Given the description of an element on the screen output the (x, y) to click on. 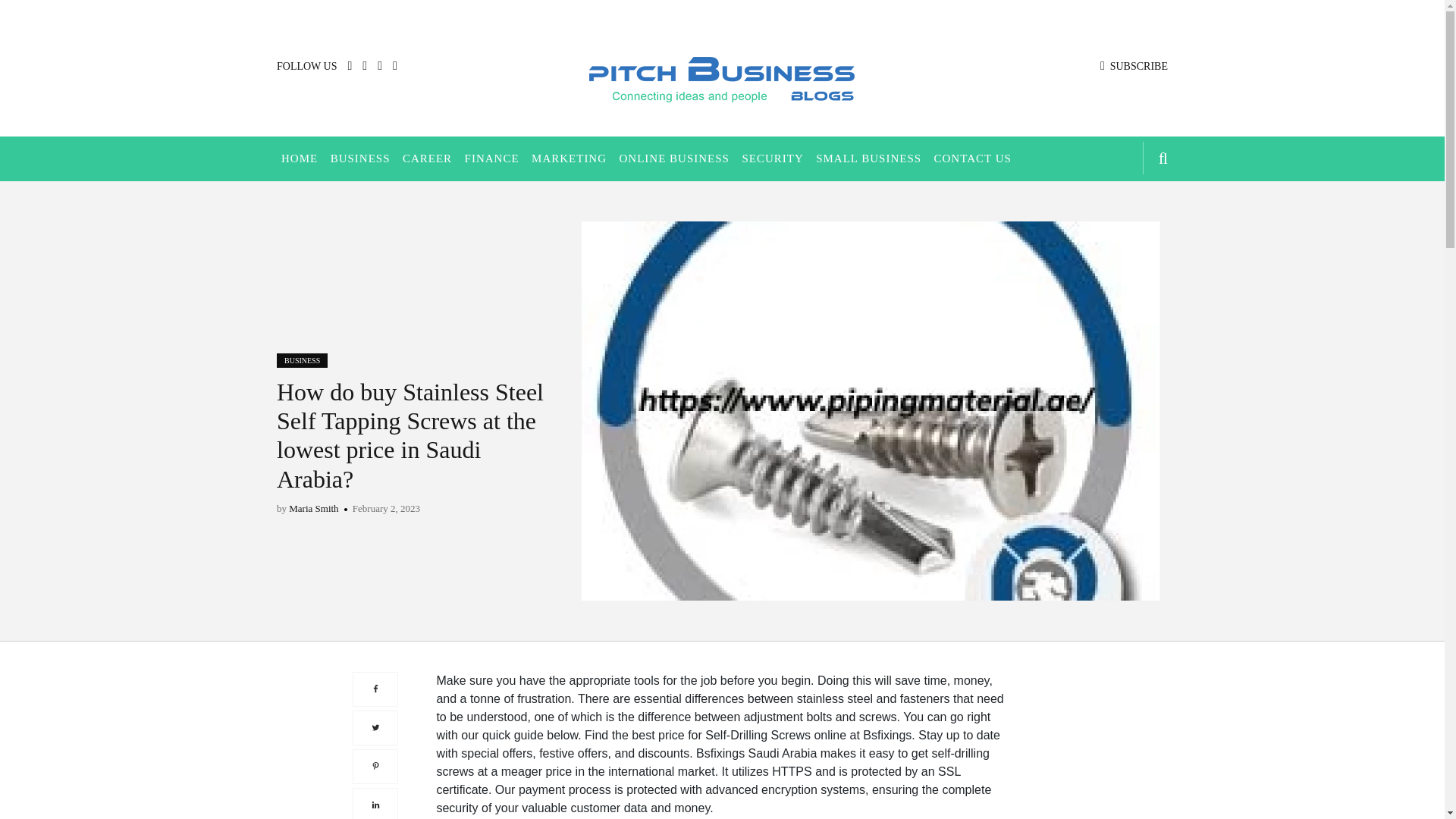
FINANCE (492, 158)
CAREER (427, 158)
SECURITY (772, 158)
HOME (298, 158)
CONTACT US (973, 158)
SUBSCRIBE (1133, 66)
BUSINESS (360, 158)
Share on Facebook (374, 688)
ONLINE BUSINESS (673, 158)
Share on Twitter (374, 727)
